Given the description of an element on the screen output the (x, y) to click on. 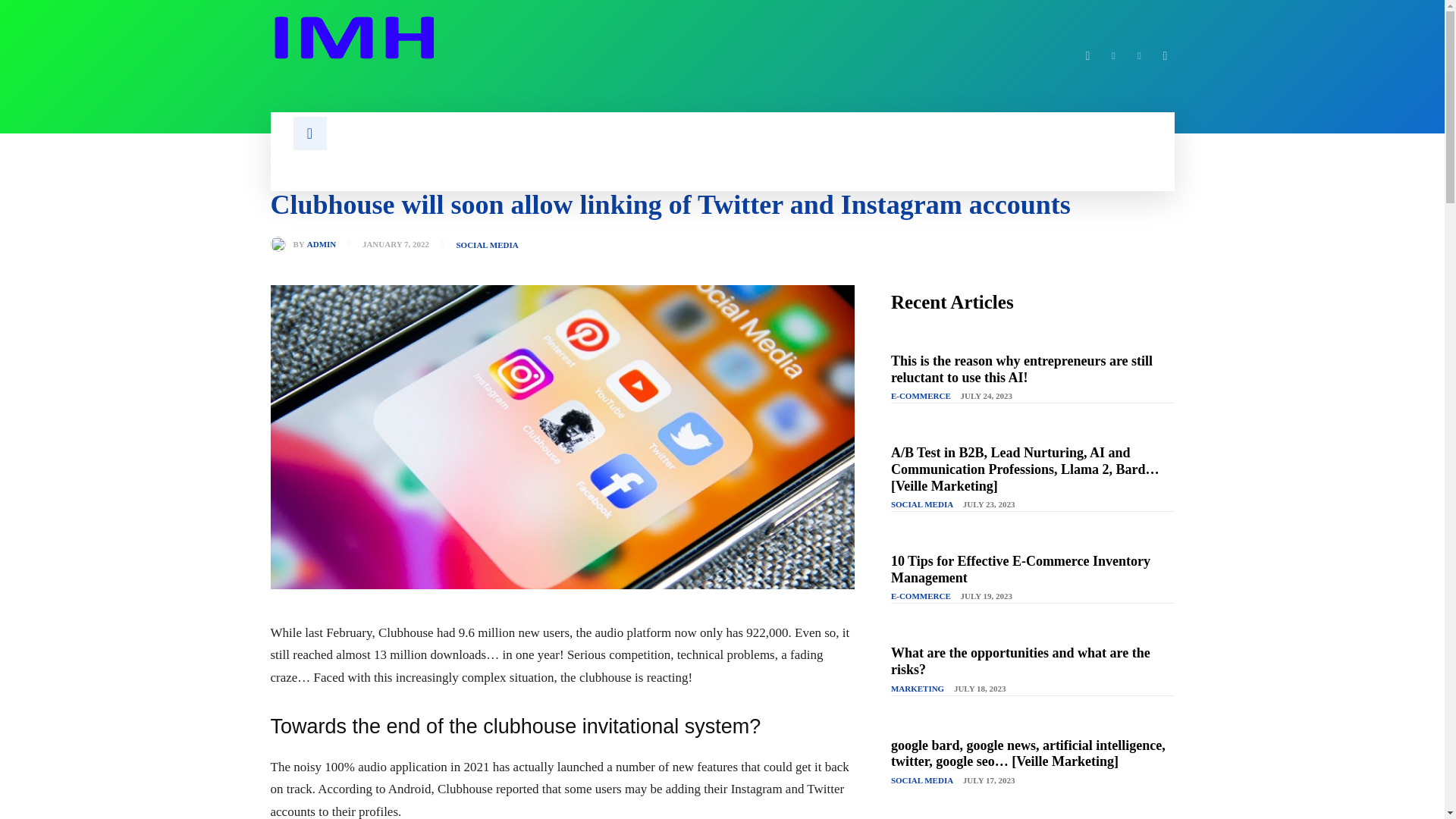
ADMIN (321, 244)
SOCIAL MEDIA (486, 244)
Linkedin (1112, 55)
admin (280, 243)
Youtube (1164, 55)
Twitter (1138, 55)
Facebook (1087, 55)
